Given the description of an element on the screen output the (x, y) to click on. 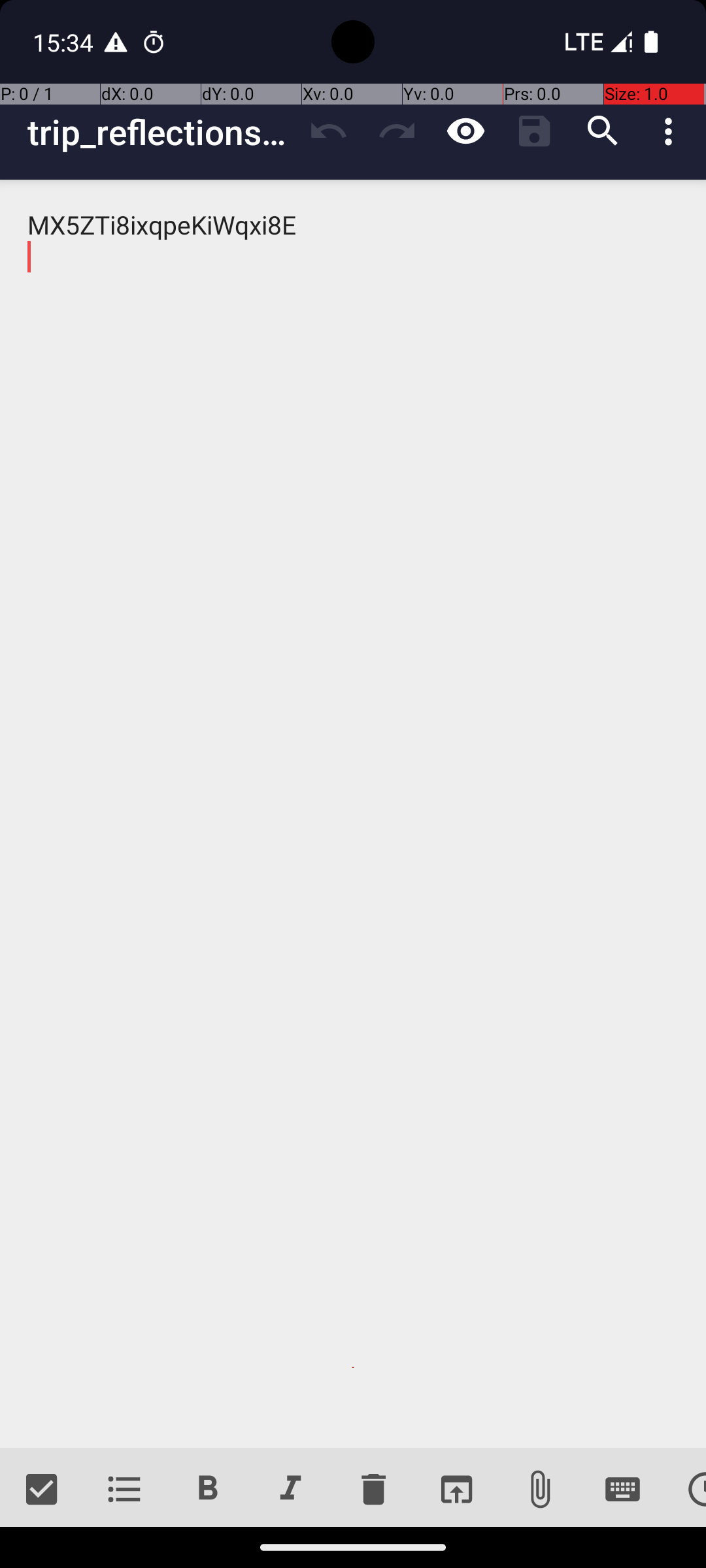
trip_reflections_recent_2023_07_04 Element type: android.widget.TextView (160, 131)
MX5ZTi8ixqpeKiWqxi8E
 Element type: android.widget.EditText (353, 813)
